Given the description of an element on the screen output the (x, y) to click on. 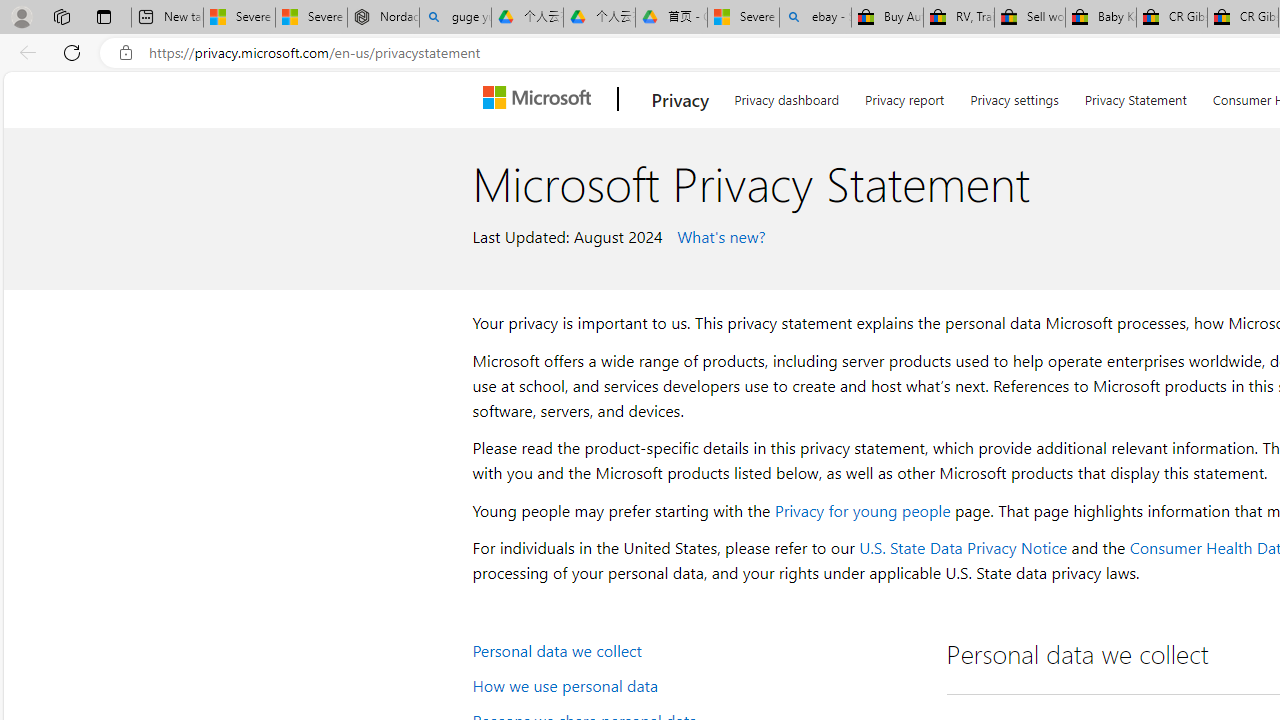
Privacy for young people (862, 509)
Privacy settings (1014, 96)
Back (24, 52)
Privacy settings (1014, 96)
guge yunpan - Search (455, 17)
How we use personal data (696, 684)
Tab actions menu (104, 16)
View site information (125, 53)
ebay - Search (815, 17)
Personal data we collect (696, 650)
Privacy (680, 99)
Privacy report (904, 96)
Workspaces (61, 16)
